Given the description of an element on the screen output the (x, y) to click on. 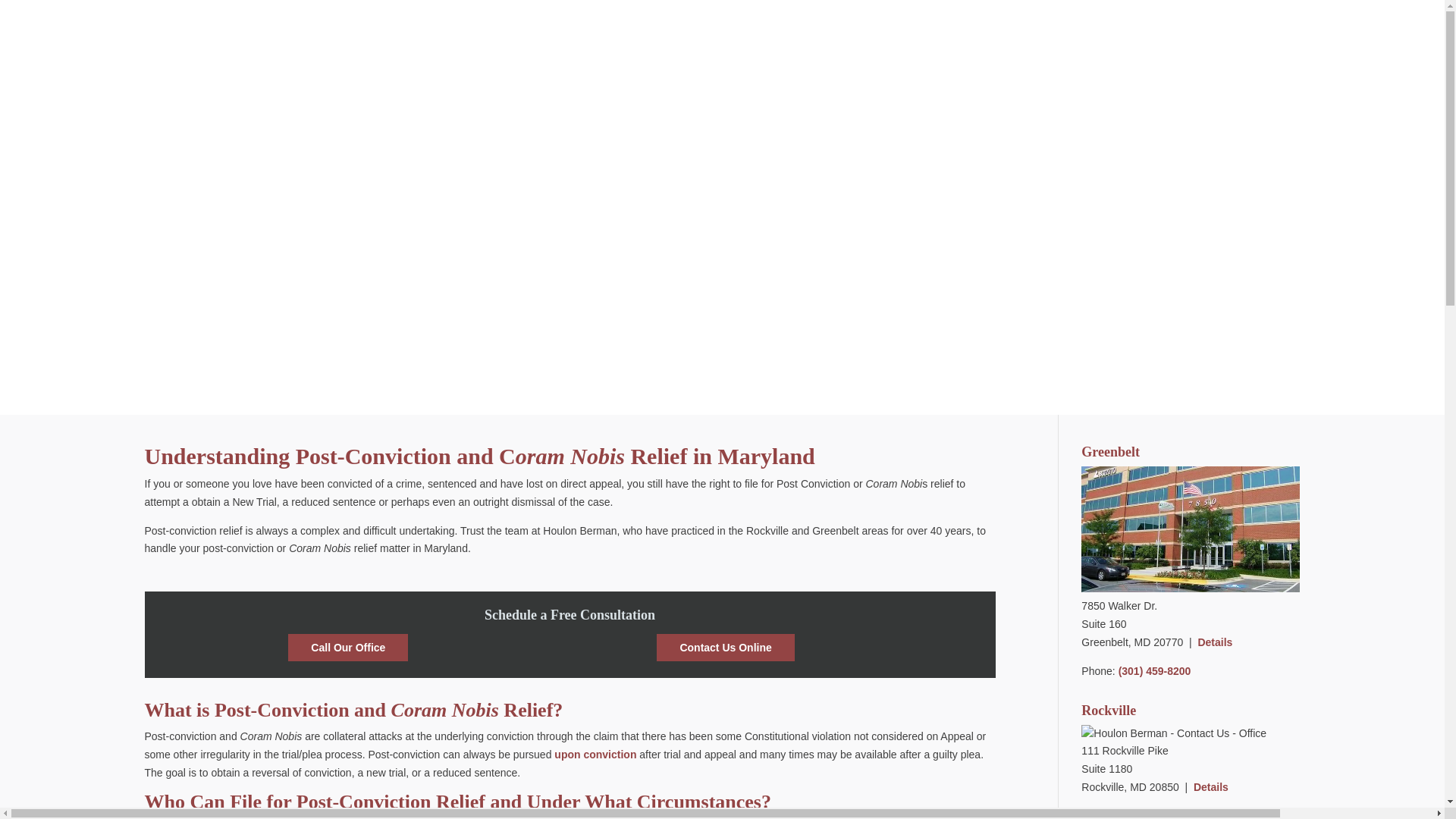
Contact Houlon Berman Online (724, 646)
Call Houlon Berman Greenbelt (1154, 671)
Call Houlon Berman (347, 646)
Location Details (1210, 787)
Criminal Law (595, 754)
Location Details (1213, 642)
